Given the description of an element on the screen output the (x, y) to click on. 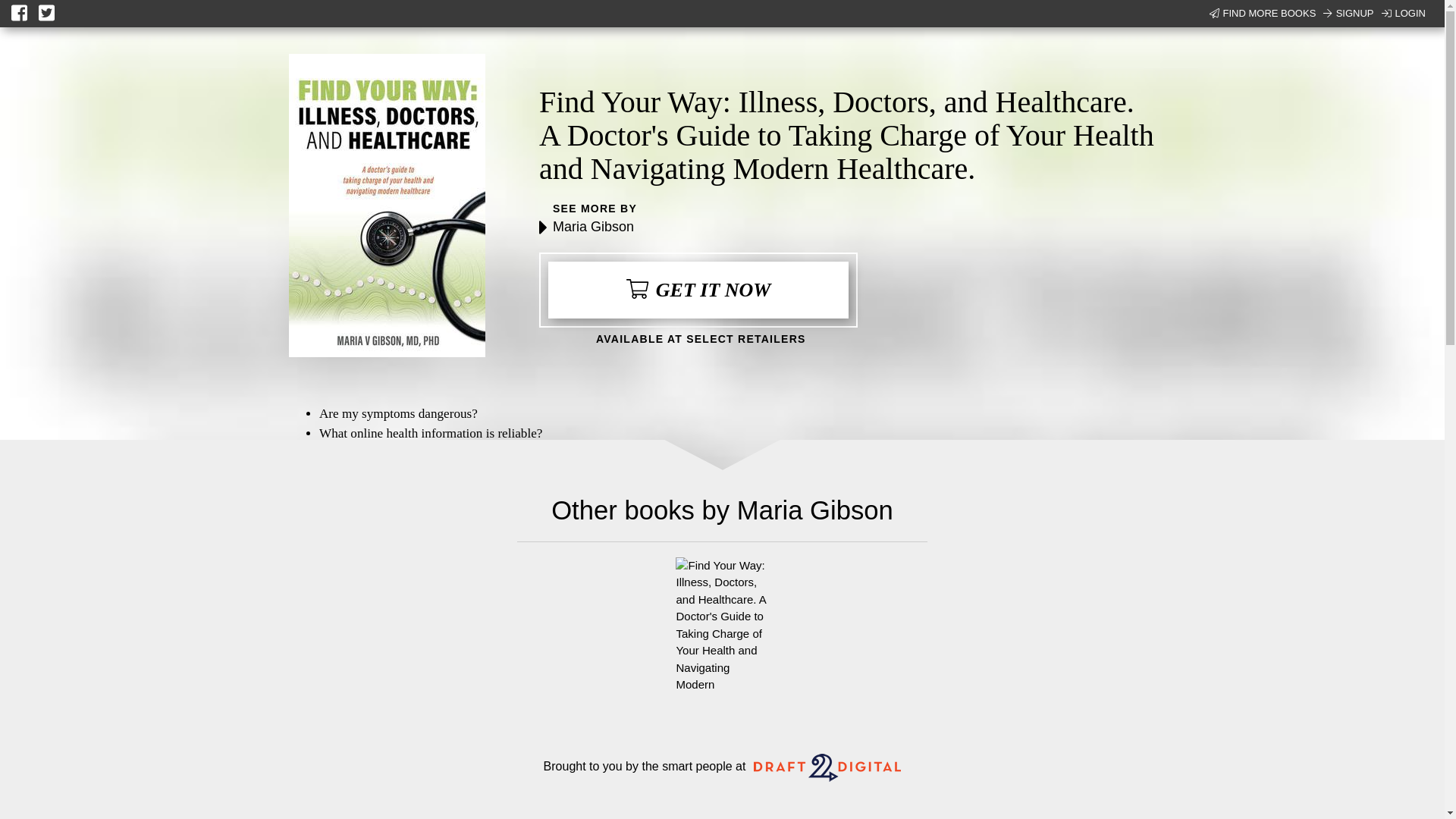
Maria Gibson (593, 226)
GET IT NOW (698, 289)
SIGNUP (1348, 13)
LOGIN (1403, 13)
FIND MORE BOOKS (1262, 13)
